Given the description of an element on the screen output the (x, y) to click on. 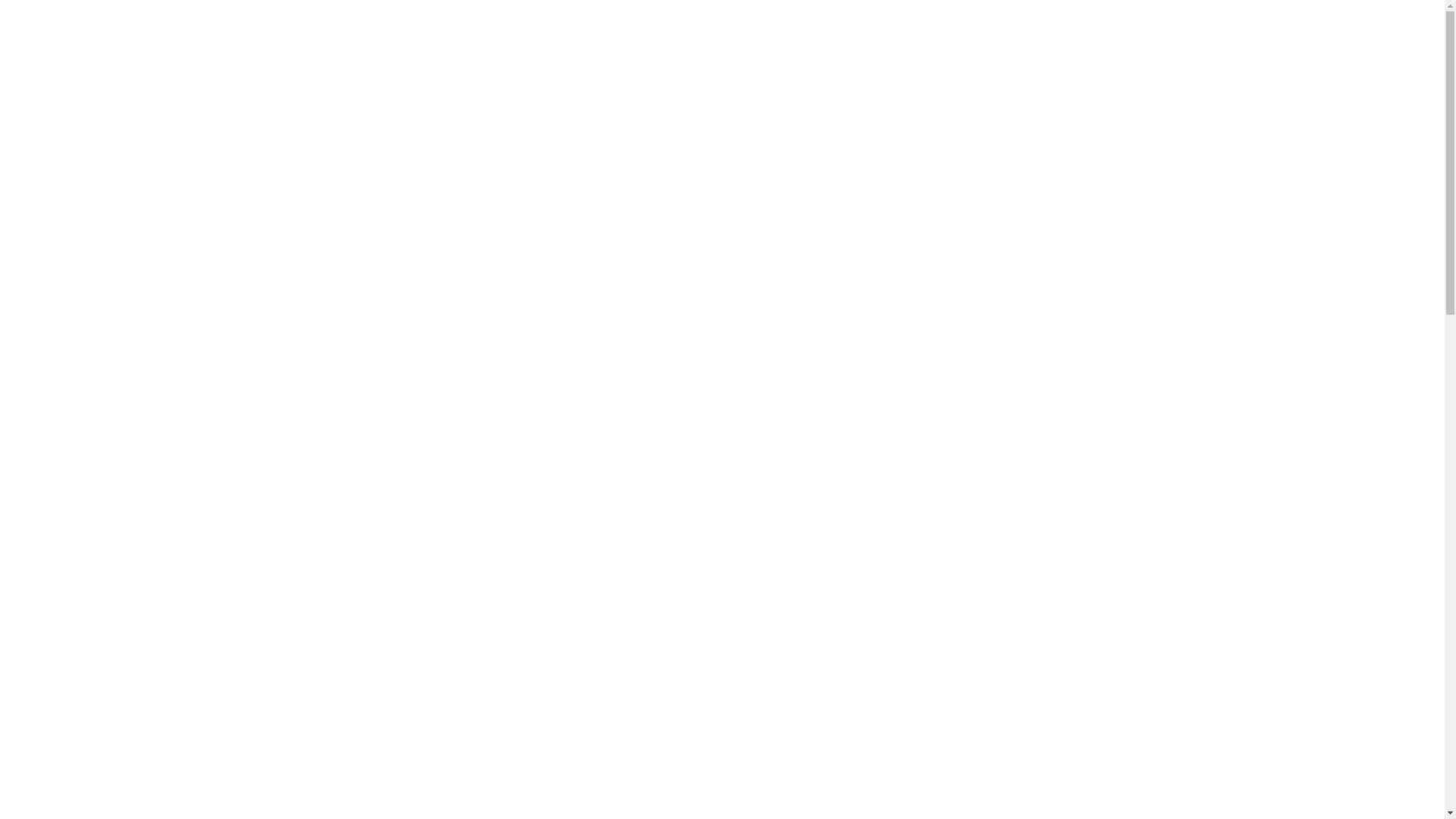
Advertisement Element type: hover (66, 233)
